Given the description of an element on the screen output the (x, y) to click on. 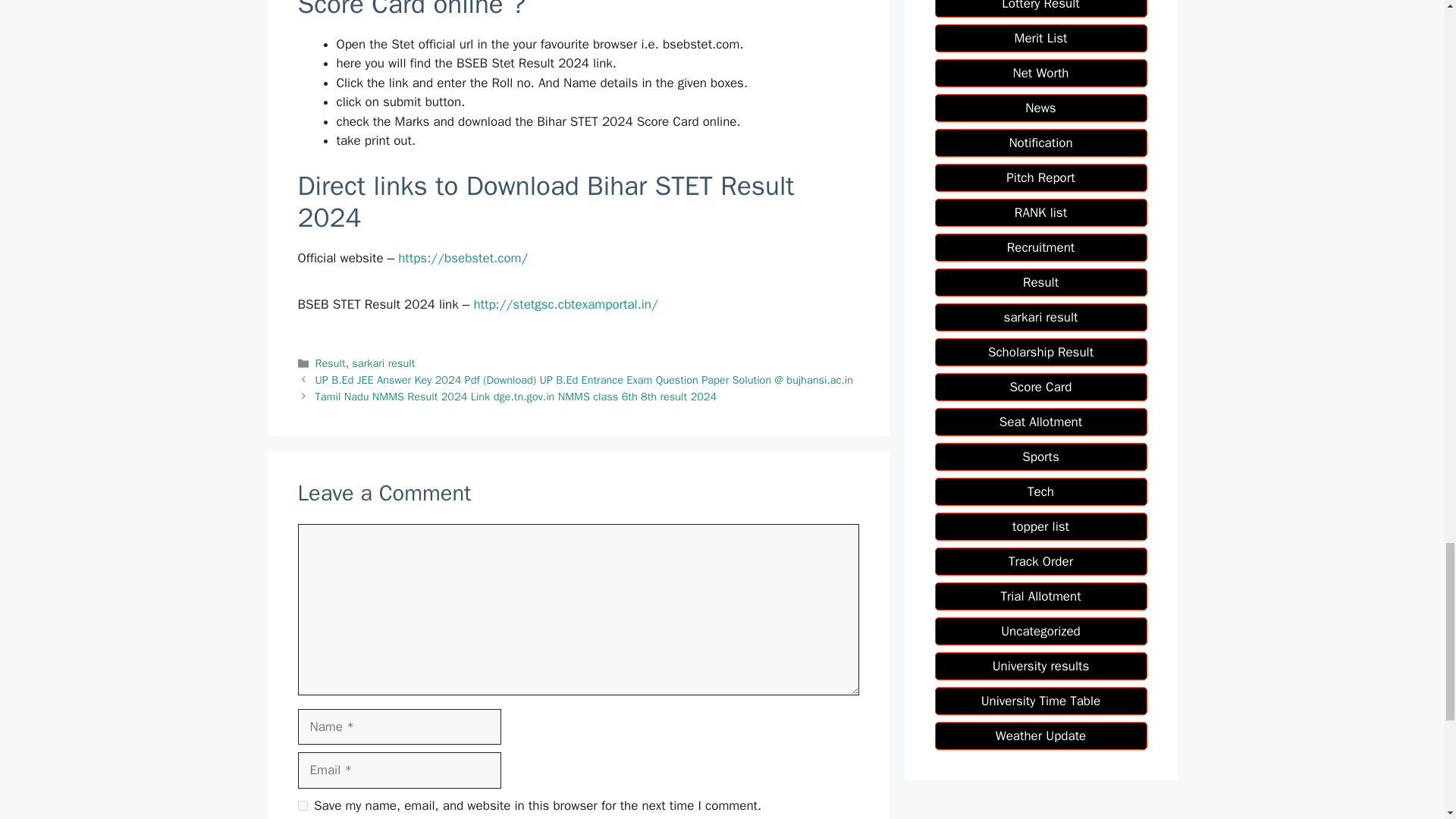
sarkari result (383, 363)
yes (302, 805)
Result (330, 363)
